Given the description of an element on the screen output the (x, y) to click on. 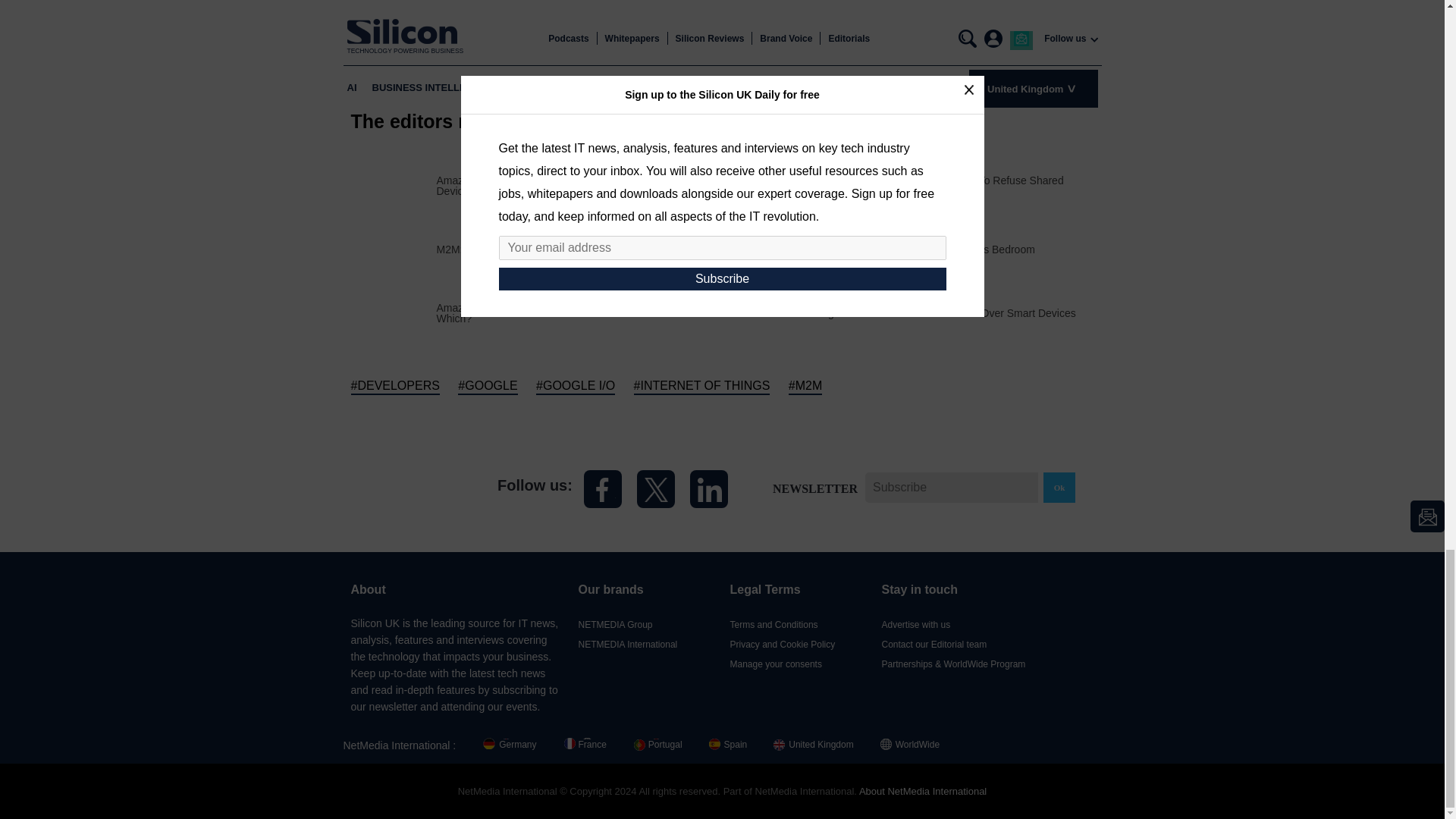
M2M: The Future of Cybersecurity (516, 249)
Google Faces Italian Antitrust Probe Over Smart Devices (941, 312)
Amazon Opens Sidewalk Mesh Network To Third-Party Devices (579, 184)
Amazon Promoted Webcams Vulnerable To Hackers, Warns Which? (579, 312)
